Given the description of an element on the screen output the (x, y) to click on. 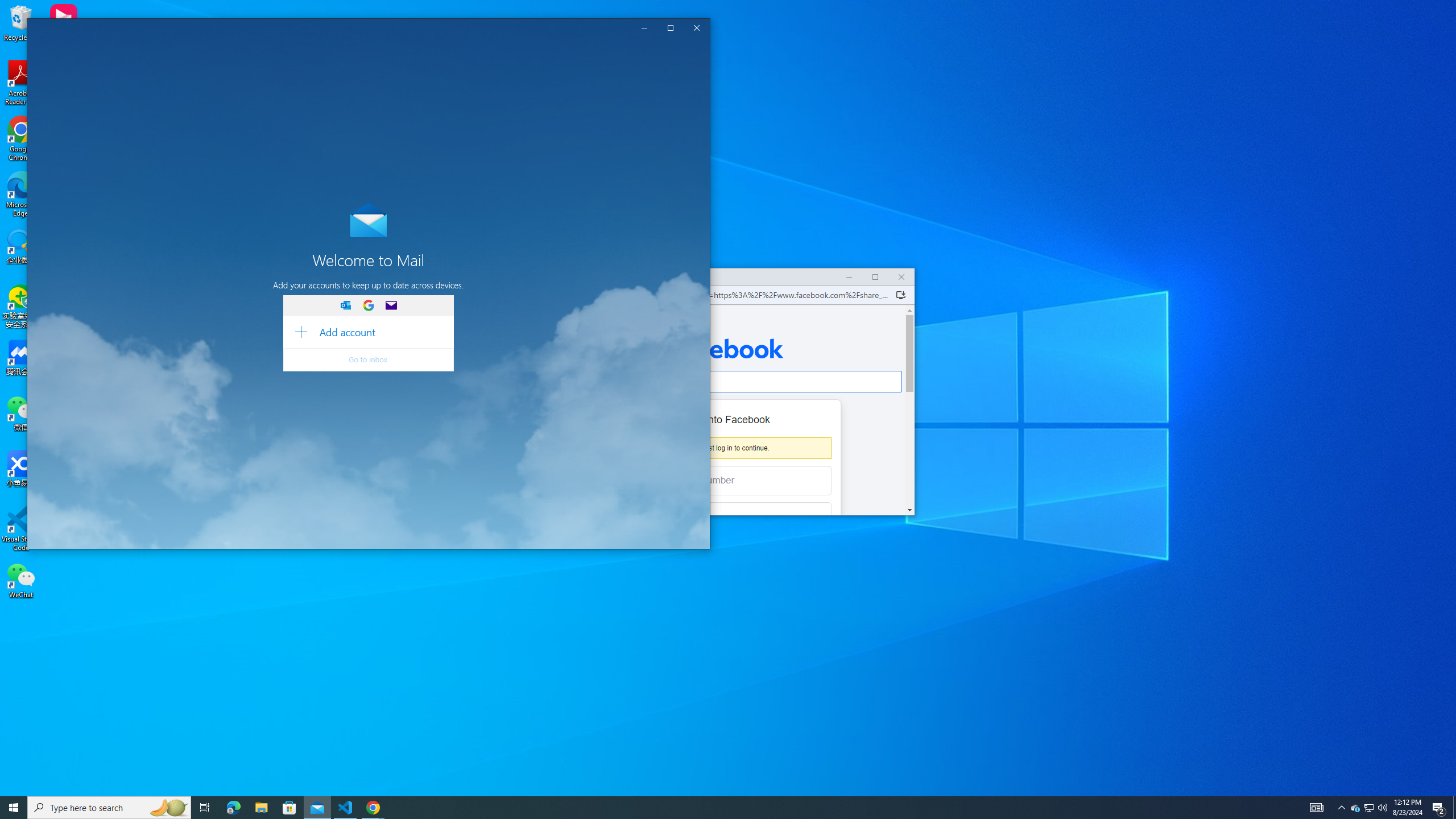
Google Chrome - 2 running windows (373, 807)
Install Facebook (900, 295)
Notification Chevron (1341, 807)
User Promoted Notification Area (1368, 807)
Switch to People (1355, 807)
Task View (95, 534)
Maximize (204, 807)
In 2024 Outlook is replacing Windows Mail and Calendar. (874, 276)
Navigation (442, 48)
Visual Studio Code - 1 running window (41, 49)
Microsoft Edge (345, 807)
Inbox folder, favorite (233, 807)
AutomationID: 4105 (100, 204)
